Given the description of an element on the screen output the (x, y) to click on. 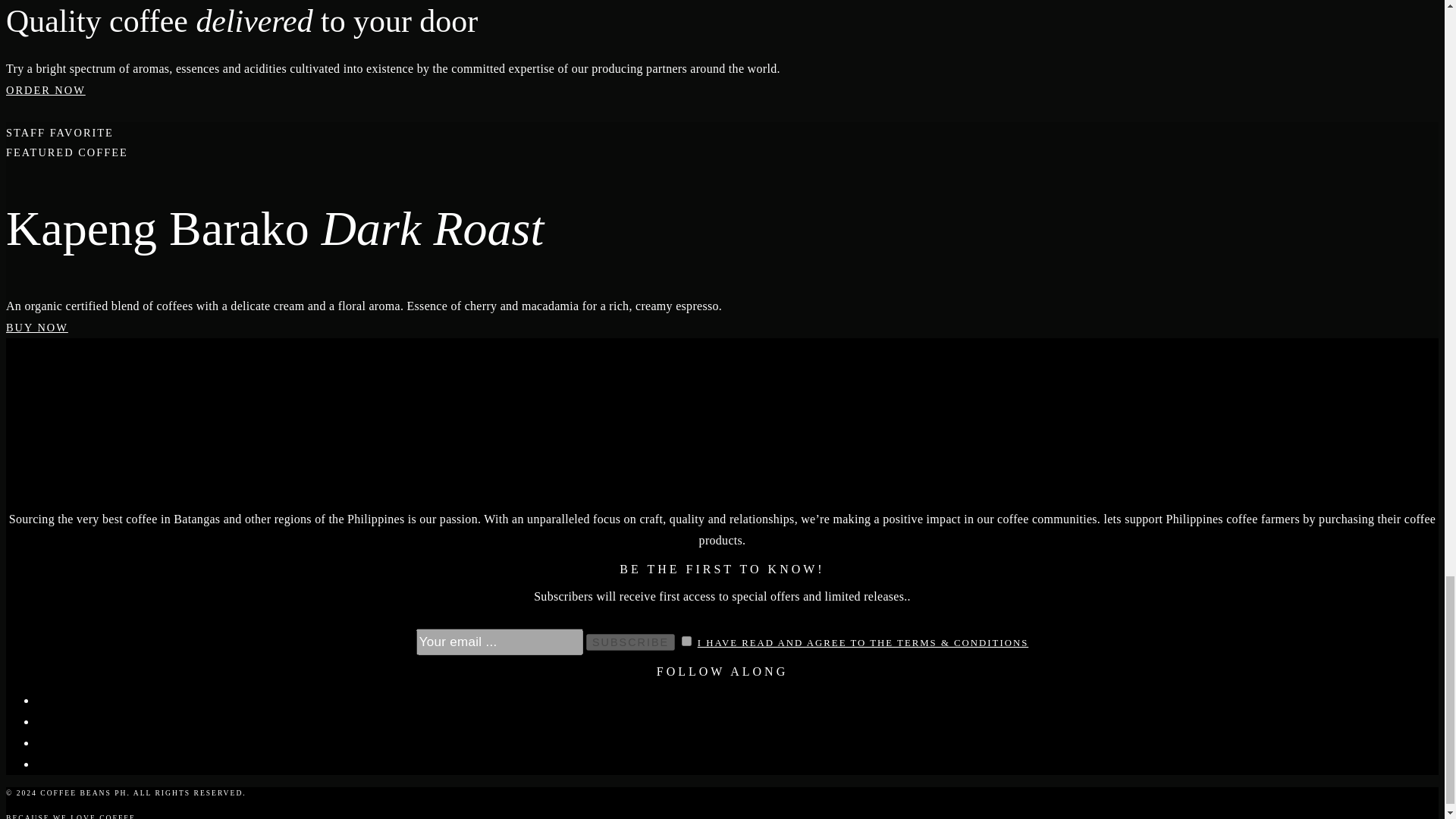
1 (685, 641)
BUY NOW (36, 327)
SUBSCRIBE (630, 641)
ORDER NOW (45, 90)
